Given the description of an element on the screen output the (x, y) to click on. 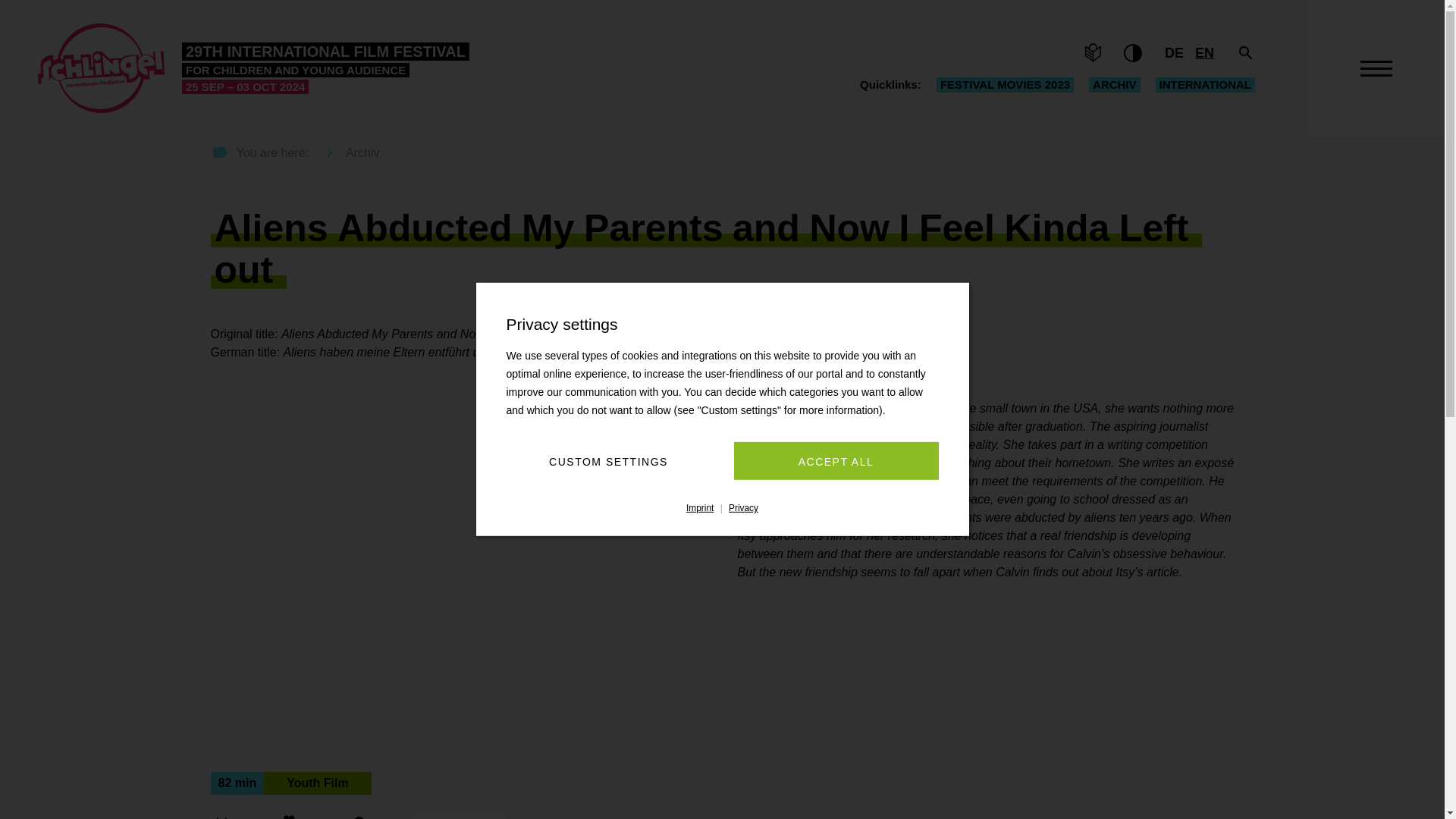
FESTIVAL MOVIES 2023 (1005, 84)
Home SCHLINGEL Filmfestival (252, 68)
Archiv (345, 153)
Festival Movies 2023 (1005, 84)
deutsche Version (1173, 53)
High contrast version (1132, 53)
ARCHIV (1114, 84)
INTERNATIONAL (1205, 84)
Archiv (1114, 84)
Currently selected: english version (1204, 53)
